Given the description of an element on the screen output the (x, y) to click on. 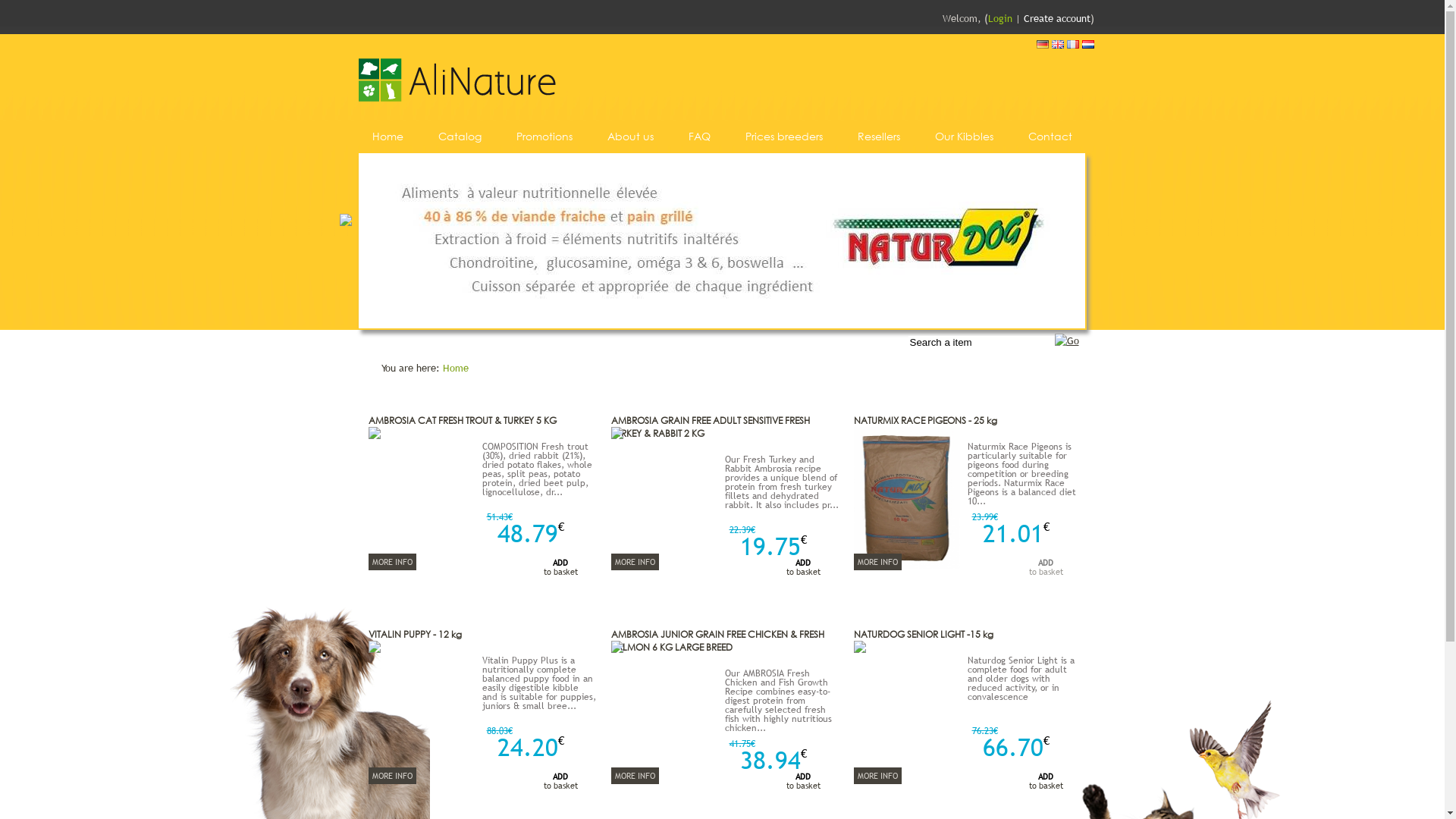
ADD
to basket Element type: text (1028, 569)
More info about this product Element type: hover (374, 648)
Go Element type: text (909, 335)
ADD
to basket Element type: text (543, 569)
More info about this product Element type: hover (859, 648)
VITALIN PUPPY - 12 kg Element type: text (414, 633)
  Element type: hover (1066, 340)
Promotions Element type: text (539, 136)
Login Element type: text (999, 18)
More info about this product Element type: hover (906, 564)
FAQ Element type: text (695, 136)
Catalog Element type: text (459, 135)
AMBROSIA CAT FRESH TROUT & TURKEY 5 KG Element type: text (462, 420)
Our Kibbles Element type: text (959, 136)
More info about this product Element type: hover (374, 435)
ADD
to basket Element type: text (786, 569)
English version Element type: hover (1057, 44)
MORE INFO Element type: text (392, 561)
ADD
to basket Element type: text (786, 783)
MORE INFO Element type: text (877, 775)
MORE INFO Element type: text (634, 561)
NATURDOG SENIOR LIGHT -15 kg Element type: text (923, 633)
Resellers Element type: text (873, 136)
Home Element type: text (455, 367)
Contact Element type: text (1046, 136)
MORE INFO Element type: text (877, 561)
MORE INFO Element type: text (392, 775)
Home Element type: text (383, 136)
More info about this product Element type: hover (617, 435)
More info about this product Element type: hover (617, 648)
Previous Element type: hover (345, 219)
ADD
to basket Element type: text (543, 783)
Nederlandse versie Element type: hover (1087, 44)
About us Element type: text (625, 136)
NATURMIX RACE PIGEONS - 25 kg Element type: text (925, 420)
Prices breeders Element type: text (779, 136)
Create account Element type: text (1056, 18)
MORE INFO Element type: text (634, 775)
ADD
to basket Element type: text (1028, 783)
Deutsch version Element type: hover (1041, 44)
Back Element type: hover (456, 105)
